Given the description of an element on the screen output the (x, y) to click on. 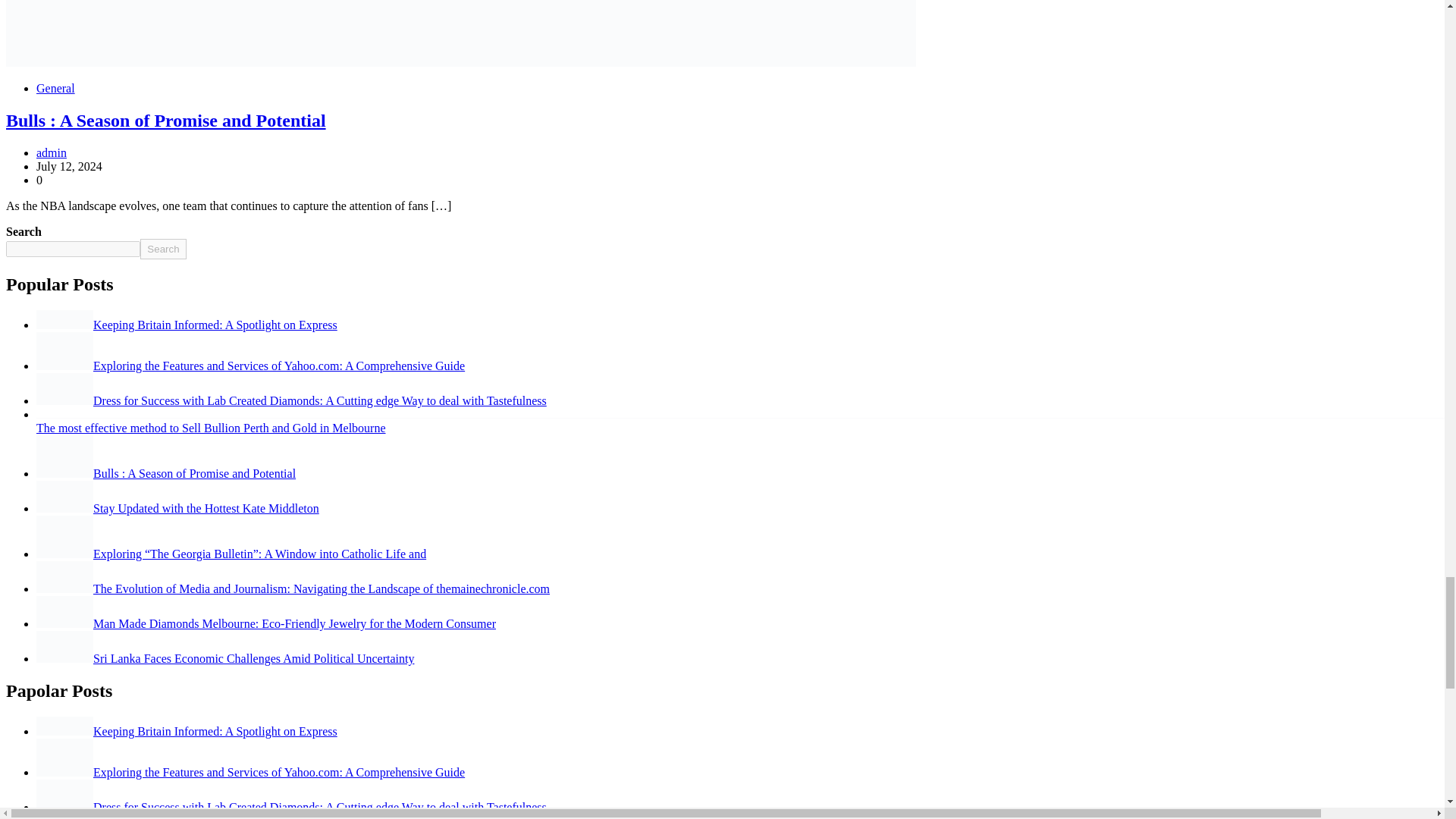
lab created diamonds (64, 795)
Bulls : A Season of Promise and Potential (165, 472)
lab created diamonds (64, 388)
admin (51, 152)
General (55, 88)
Keeping Britain Informed: A Spotlight on Express (186, 324)
Stay Updated with the Hottest Kate Middleton (177, 508)
Keeping Britain Informed: A Spotlight on Express (186, 730)
